Given the description of an element on the screen output the (x, y) to click on. 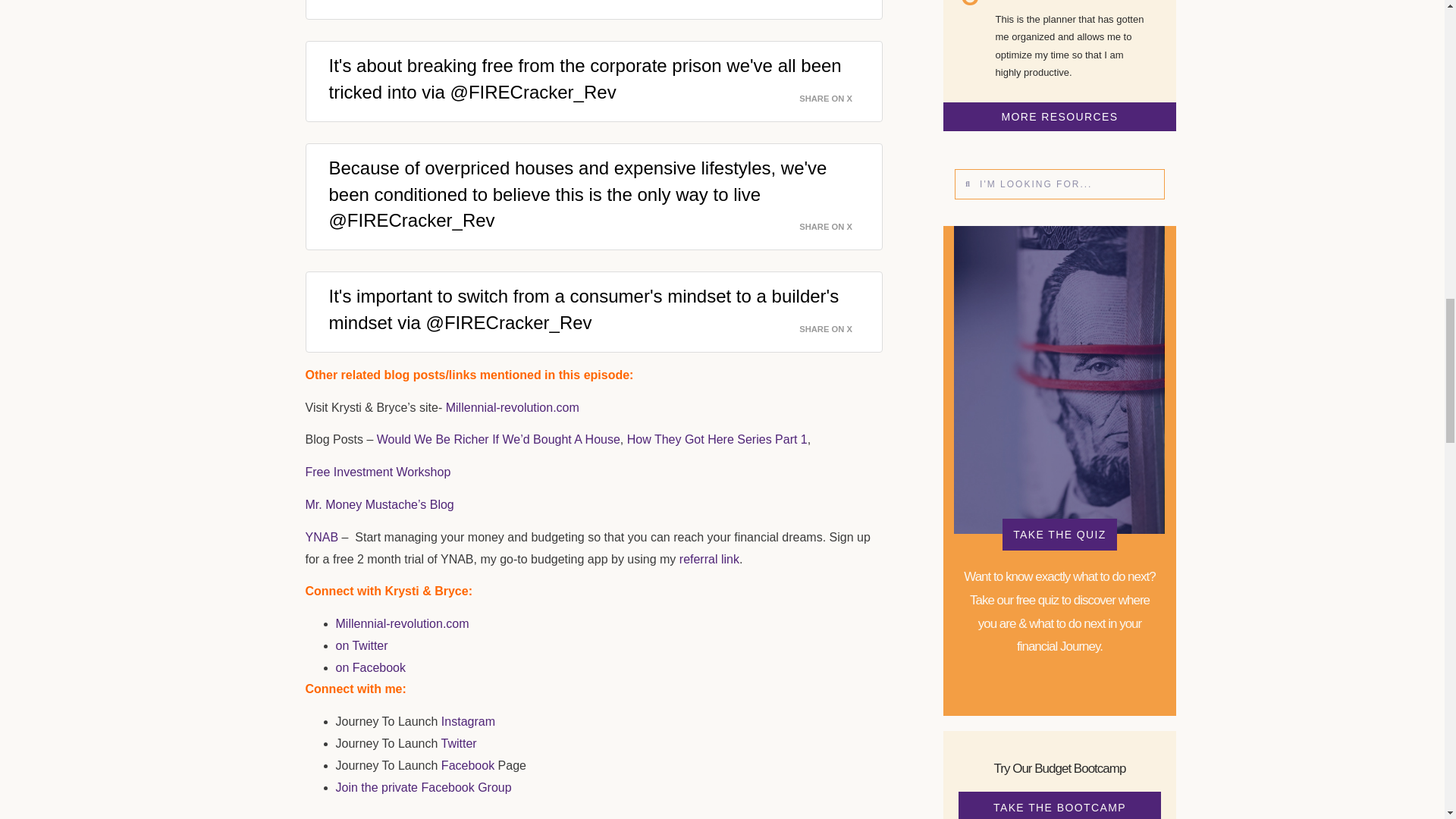
Millennial-revolution.com (512, 407)
SHARE ON X (834, 325)
SHARE ON X (834, 223)
How They Got Here Series Part 1 (717, 439)
SHARE ON X (834, 94)
Instagram (468, 721)
Millennial-revolution.com (401, 623)
Free Investment Workshop (376, 472)
on Facebook  (371, 667)
referral link (709, 558)
YNAB (320, 536)
on Twitter (360, 645)
SHARE ON X (834, 3)
